Given the description of an element on the screen output the (x, y) to click on. 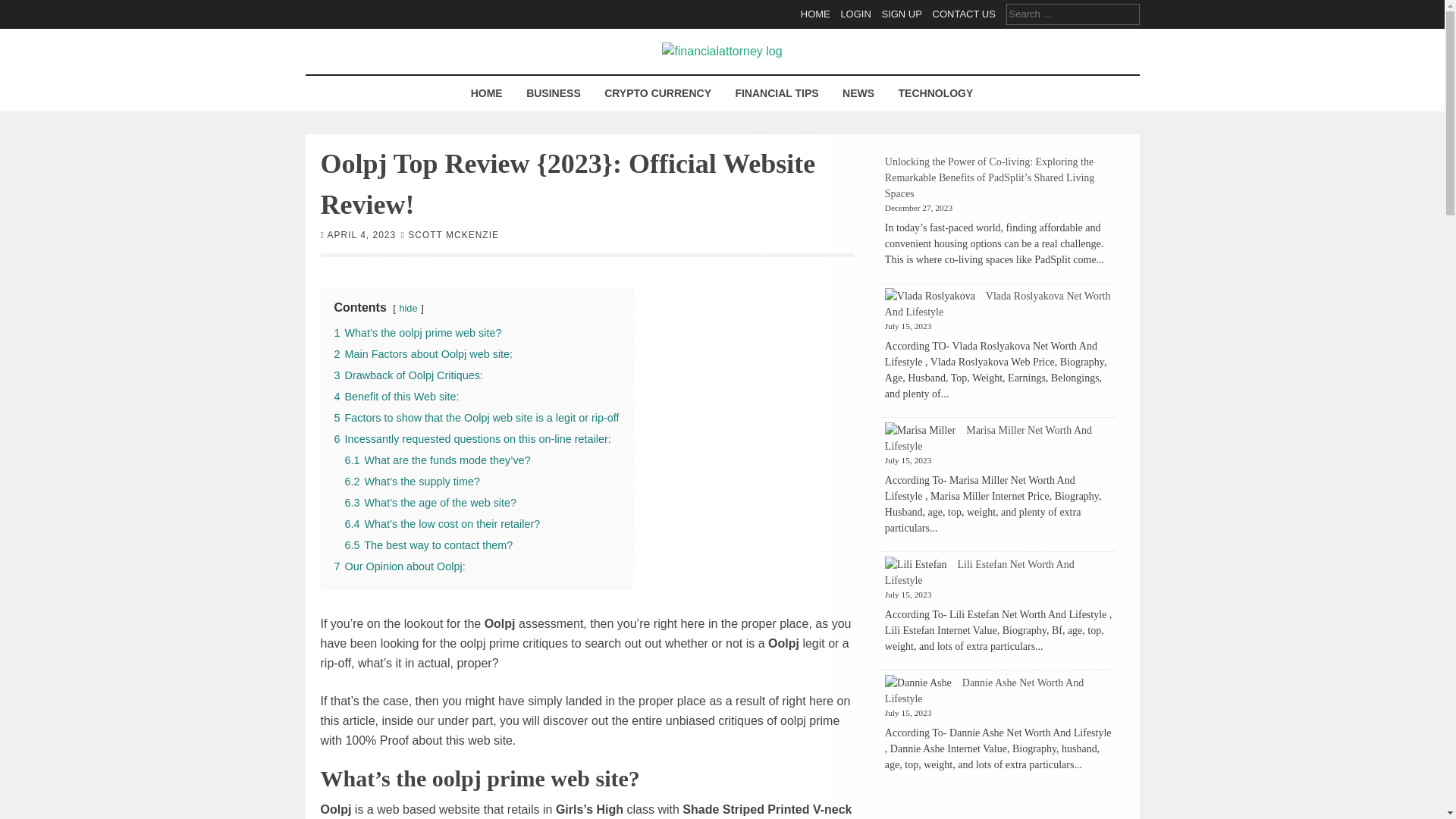
SIGN UP (900, 13)
Search (23, 9)
2 Main Factors about Oolpj web site: (422, 353)
TECHNOLOGY (936, 93)
CONTACT US (964, 13)
HOME (486, 93)
HOME (814, 13)
CRYPTO CURRENCY (657, 93)
FINANCIAL TIPS (776, 93)
Lili Estefan Net Worth And Lifestyle (979, 572)
LOGIN (855, 13)
Dannie Ashe Net Worth And Lifestyle (984, 690)
Marisa Miller Net Worth And Lifestyle (988, 438)
APRIL 4, 2023 (361, 234)
hide (407, 307)
